Given the description of an element on the screen output the (x, y) to click on. 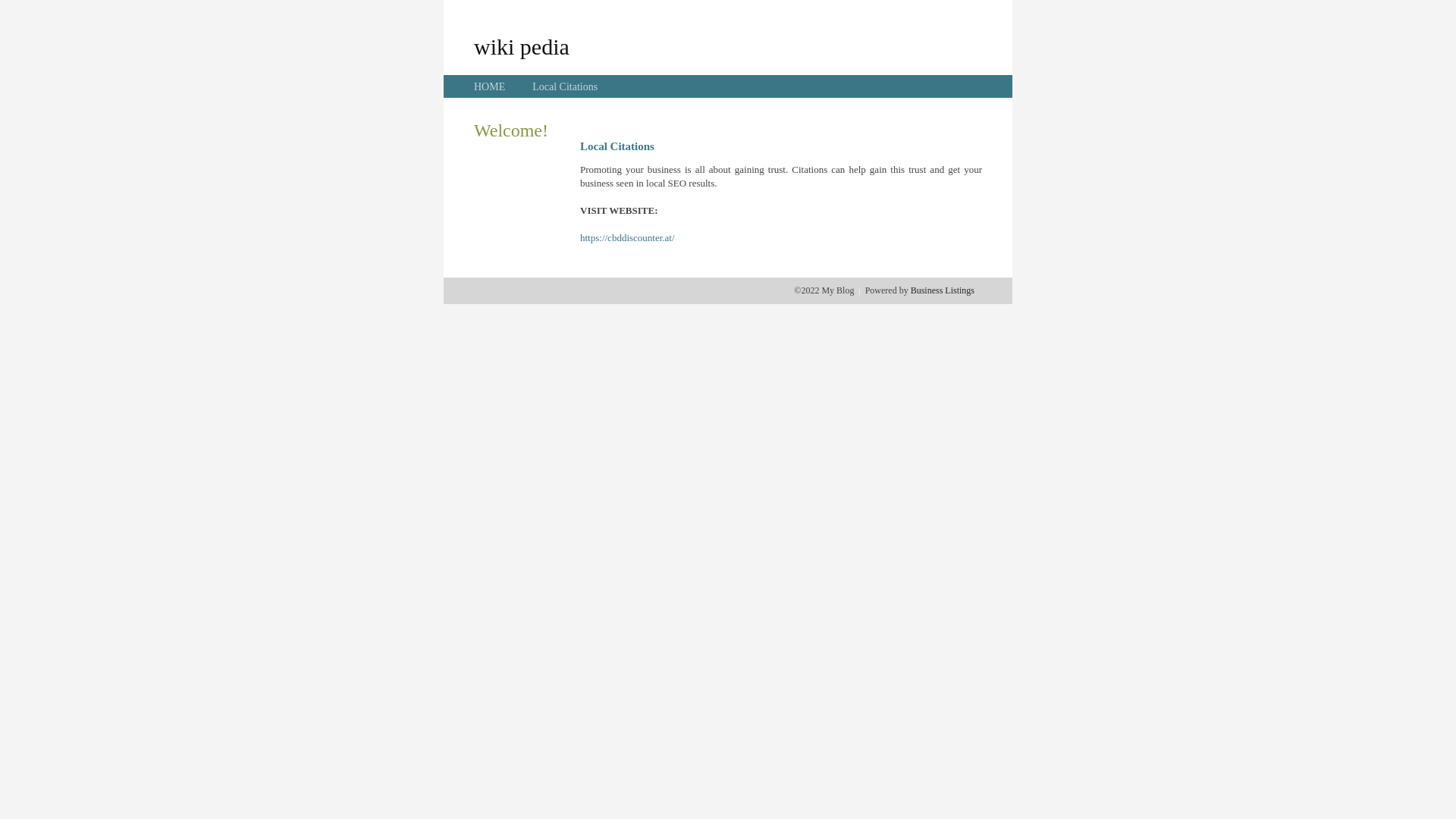
wiki pedia Element type: text (521, 46)
Local Citations Element type: text (564, 86)
HOME Element type: text (489, 86)
Business Listings Element type: text (942, 290)
https://cbddiscounter.at/ Element type: text (627, 237)
